Given the description of an element on the screen output the (x, y) to click on. 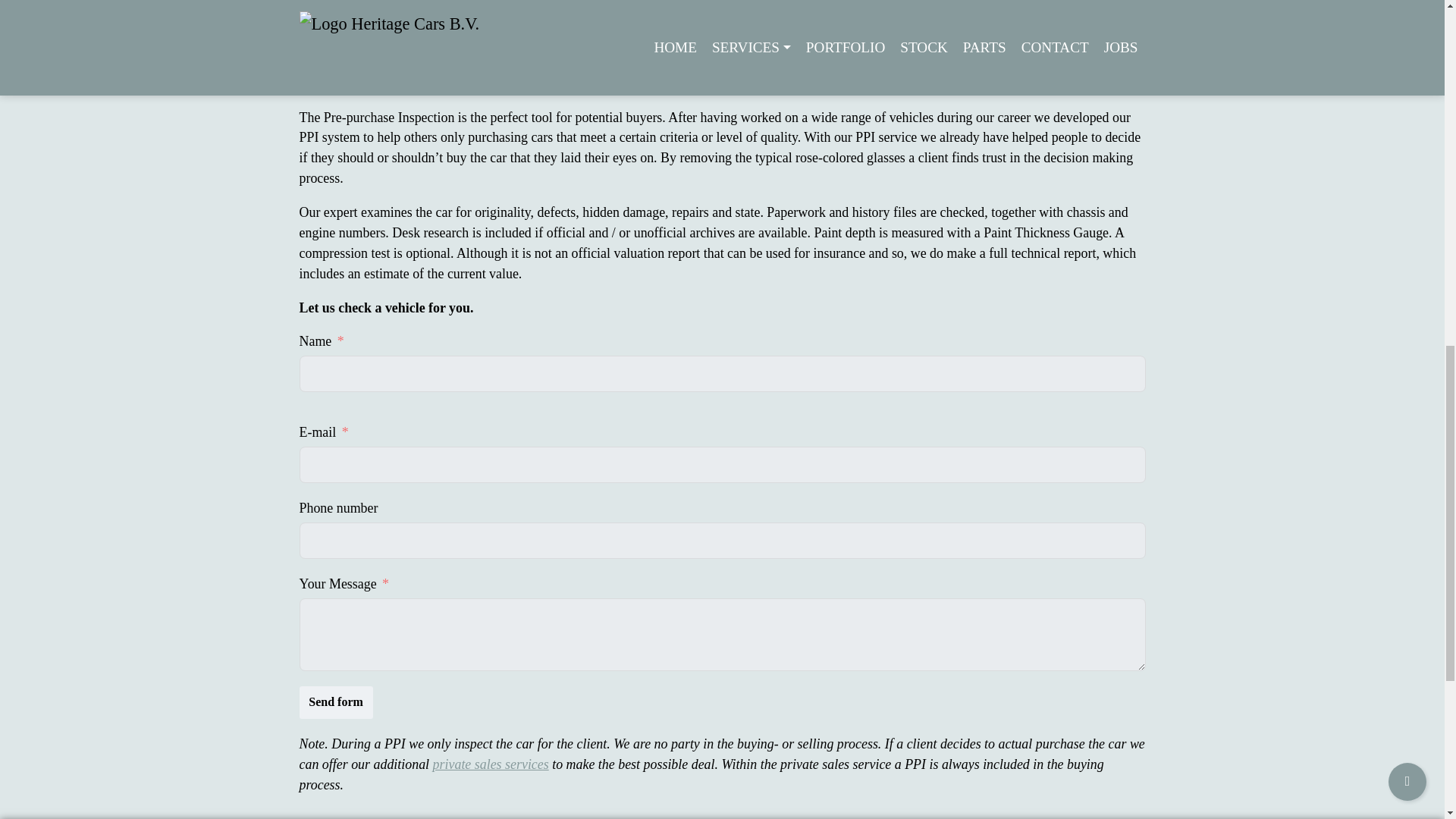
Reject (1056, 49)
Adjust preferences (346, 66)
Accept (1114, 49)
Send form (335, 702)
private sales services (490, 764)
